Given the description of an element on the screen output the (x, y) to click on. 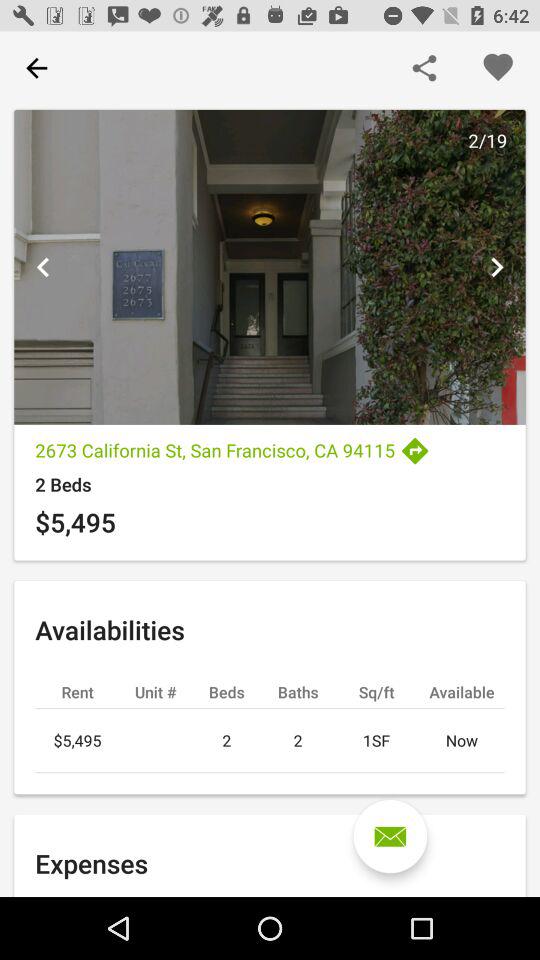
email property owner (389, 836)
